Given the description of an element on the screen output the (x, y) to click on. 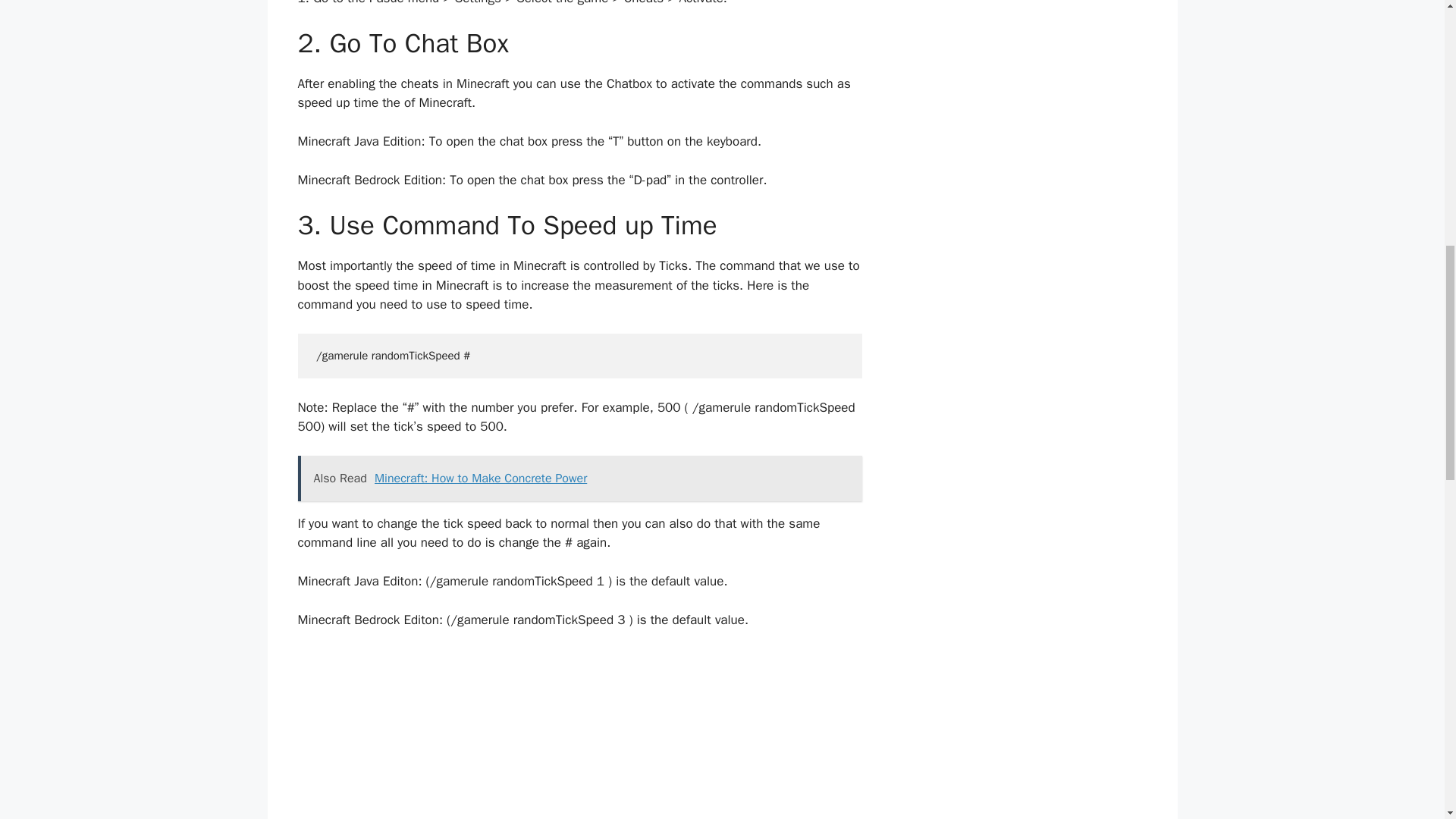
How to Change The Tick Speed in Minecraft (579, 734)
Also Read  Minecraft: How to Make Concrete Power (579, 478)
